Given the description of an element on the screen output the (x, y) to click on. 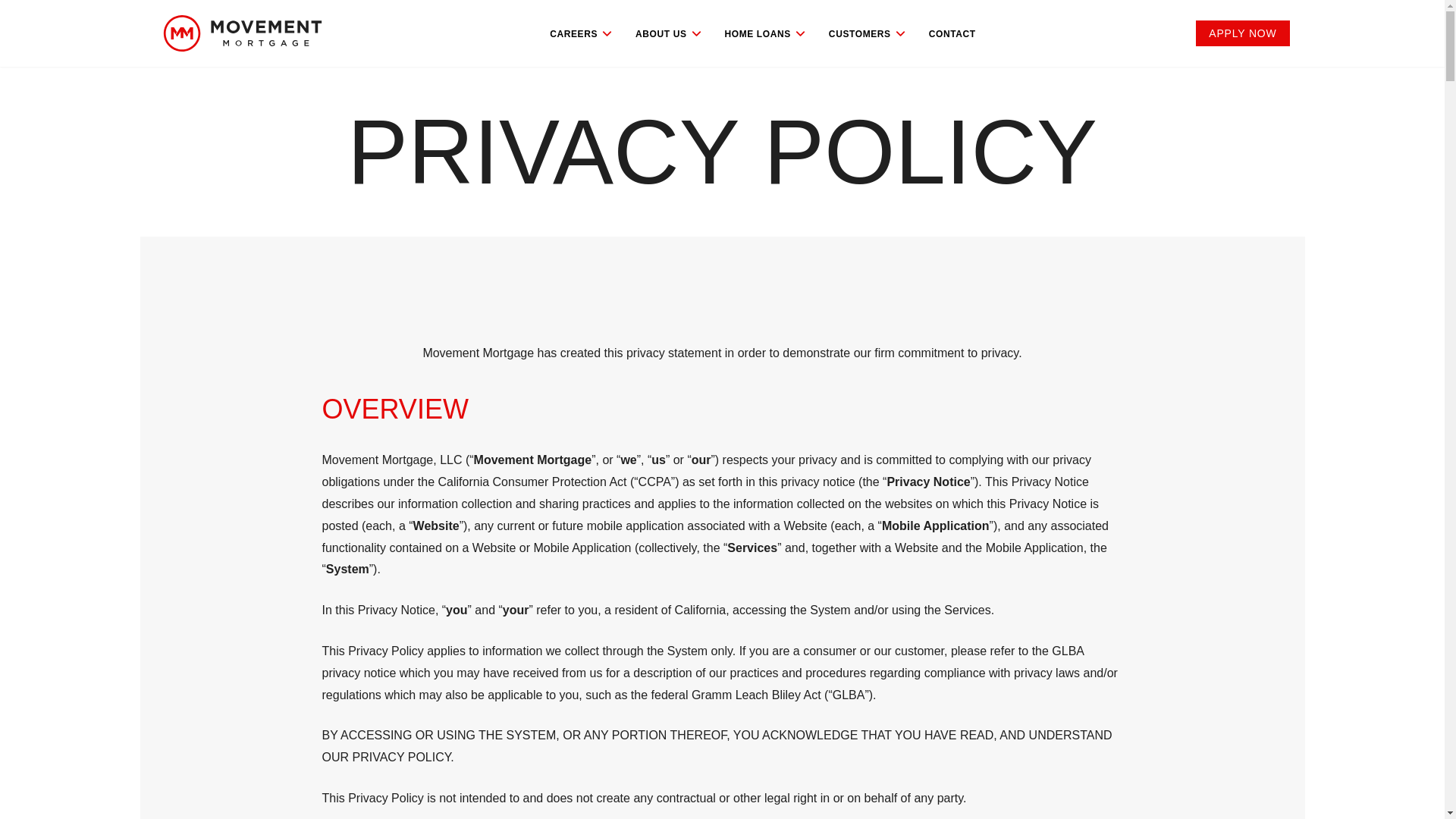
ABOUT US (668, 33)
CAREERS (581, 33)
HOME LOANS (764, 33)
APPLY NOW (1241, 32)
CONTACT (952, 34)
Movement Mortgage Logo (241, 32)
CUSTOMERS (866, 33)
